Given the description of an element on the screen output the (x, y) to click on. 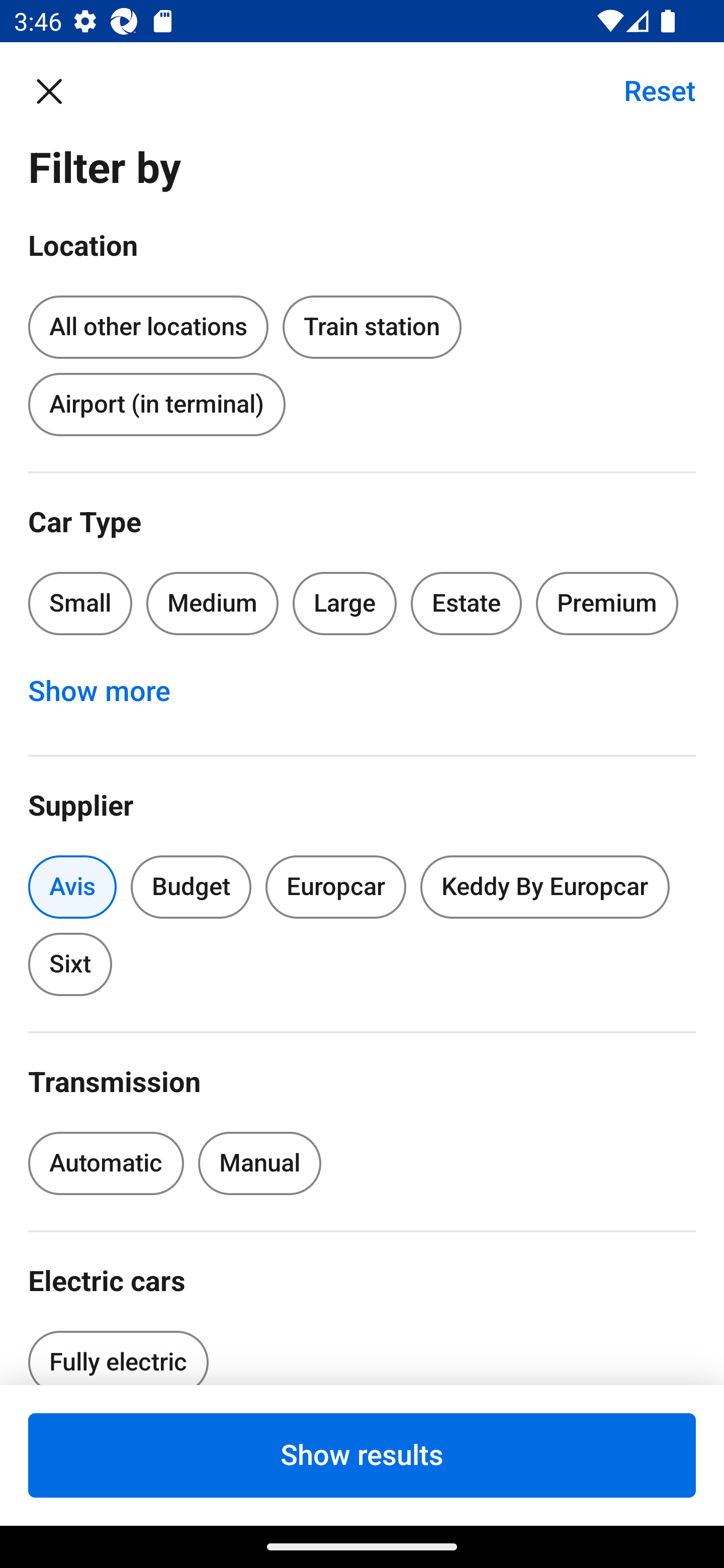
Close (59, 90)
Reset (649, 90)
All other locations (148, 323)
Train station (371, 327)
Airport (in terminal) (156, 404)
Small (80, 603)
Medium (212, 603)
Large (344, 603)
Estate (466, 603)
Premium (606, 603)
Show more (109, 691)
Budget (191, 887)
Europcar (335, 887)
Keddy By Europcar (544, 887)
Sixt (70, 963)
Automatic (105, 1163)
Manual (259, 1163)
Fully electric (118, 1352)
Show results (361, 1454)
